Given the description of an element on the screen output the (x, y) to click on. 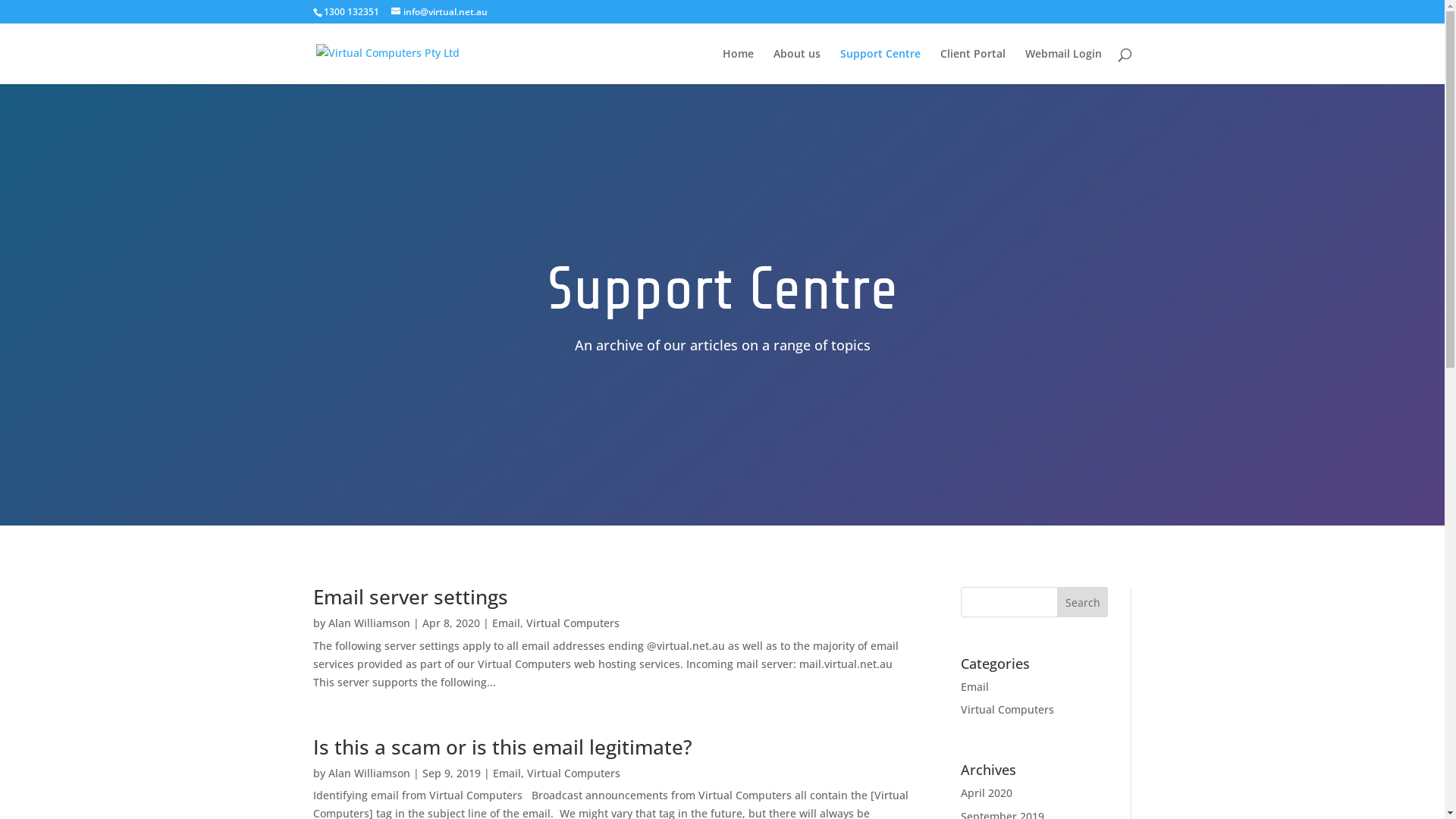
Email Element type: text (974, 686)
Client Portal Element type: text (972, 66)
Home Element type: text (737, 66)
Alan Williamson Element type: text (368, 622)
April 2020 Element type: text (986, 792)
Is this a scam or is this email legitimate? Element type: text (501, 746)
Virtual Computers Element type: text (1007, 709)
Email Element type: text (506, 772)
Webmail Login Element type: text (1063, 66)
Support Centre Element type: text (880, 66)
Virtual Computers Element type: text (572, 772)
Search Element type: text (1082, 601)
Alan Williamson Element type: text (368, 772)
About us Element type: text (796, 66)
Email server settings Element type: text (409, 596)
Virtual Computers Element type: text (572, 622)
Email Element type: text (505, 622)
info@virtual.net.au Element type: text (439, 11)
